Given the description of an element on the screen output the (x, y) to click on. 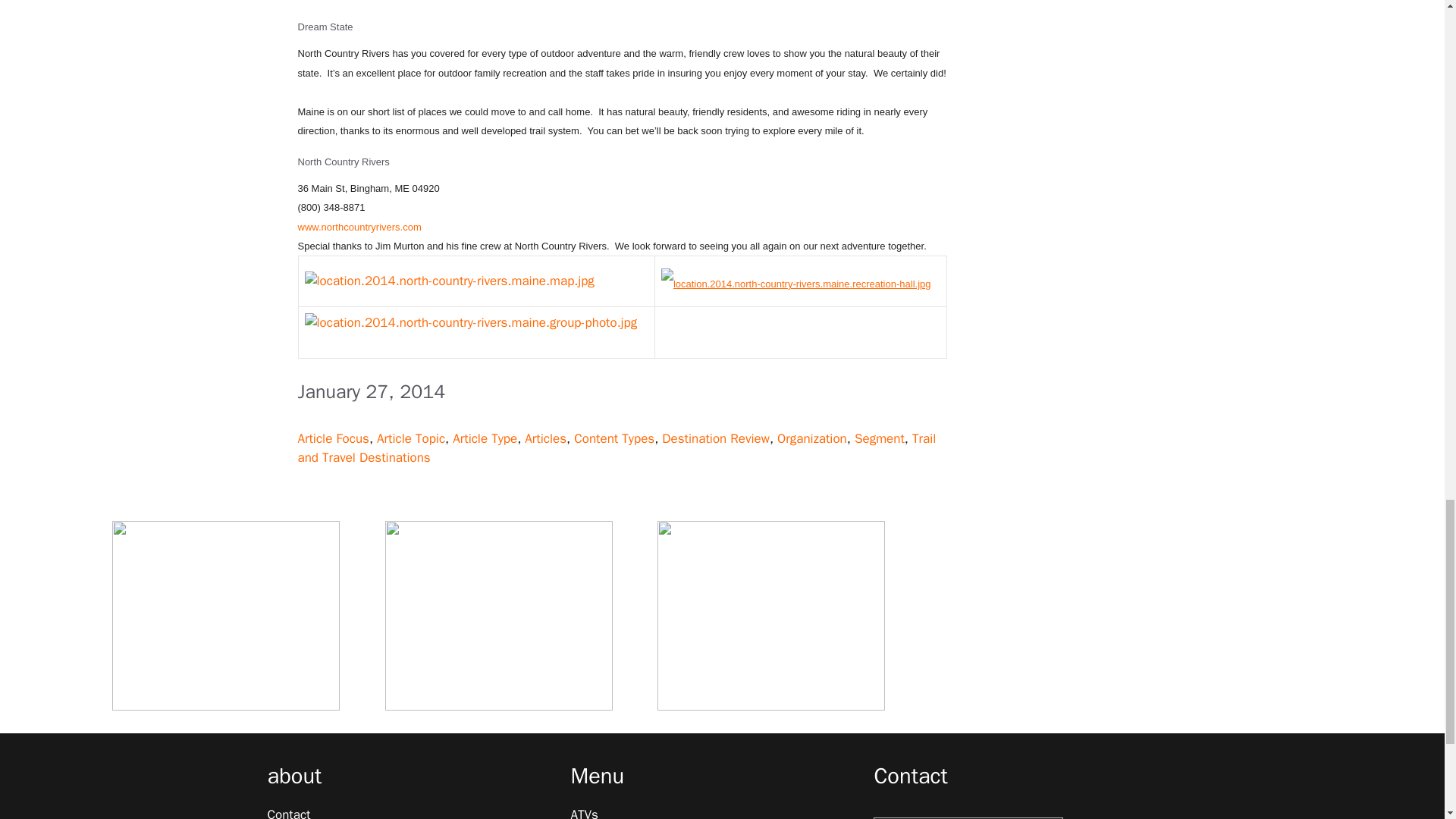
Article Focus (332, 438)
Article Topic (411, 438)
Articles (545, 438)
www.northcountryrivers.com (358, 226)
Content Types (613, 438)
Article Type (484, 438)
